Given the description of an element on the screen output the (x, y) to click on. 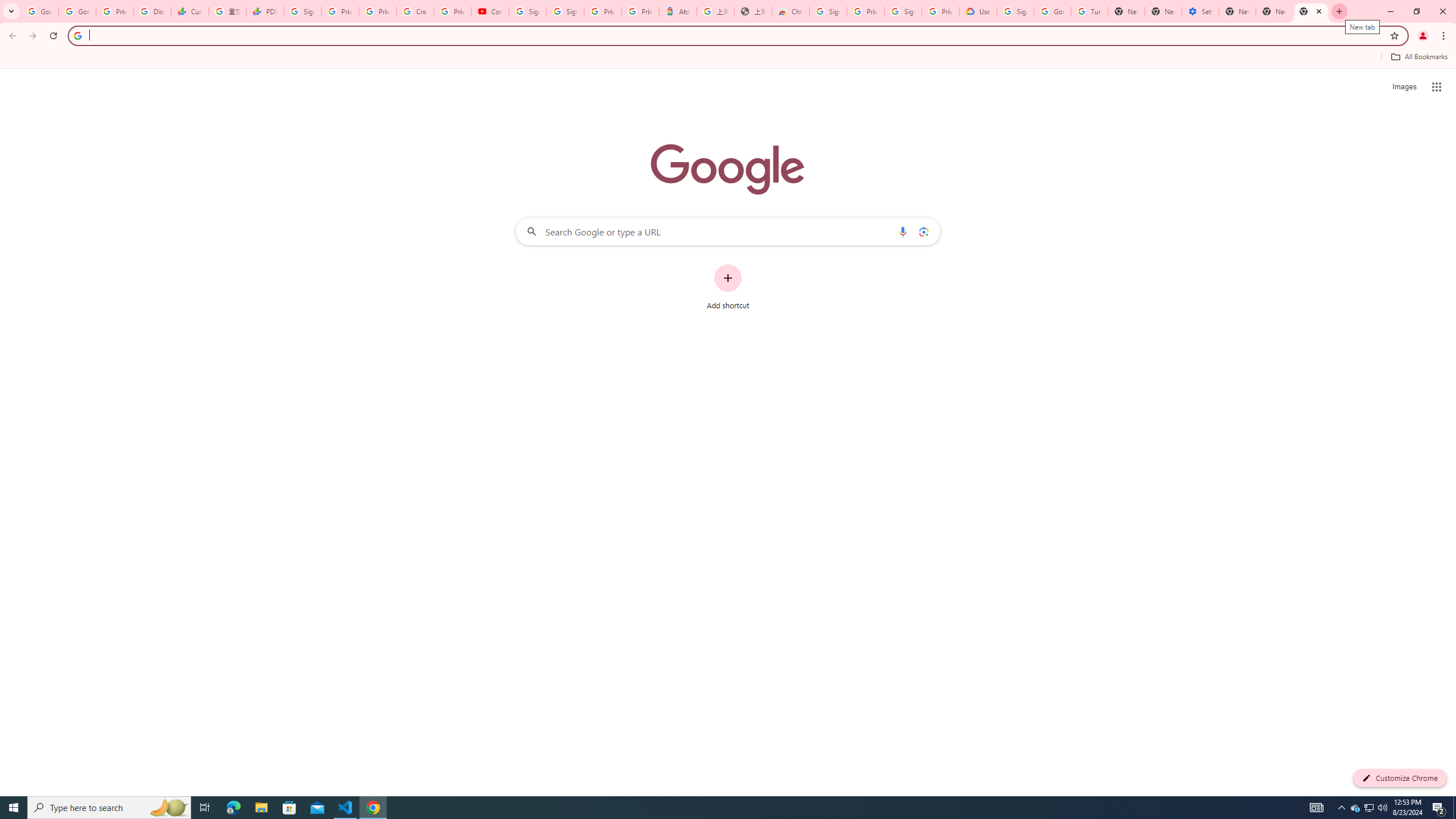
All Bookmarks (1418, 56)
Privacy Checkup (377, 11)
Search by voice (902, 230)
Google Workspace Admin Community (40, 11)
Search by image (922, 230)
Sign in - Google Accounts (565, 11)
Create your Google Account (415, 11)
Sign in - Google Accounts (1015, 11)
